Given the description of an element on the screen output the (x, y) to click on. 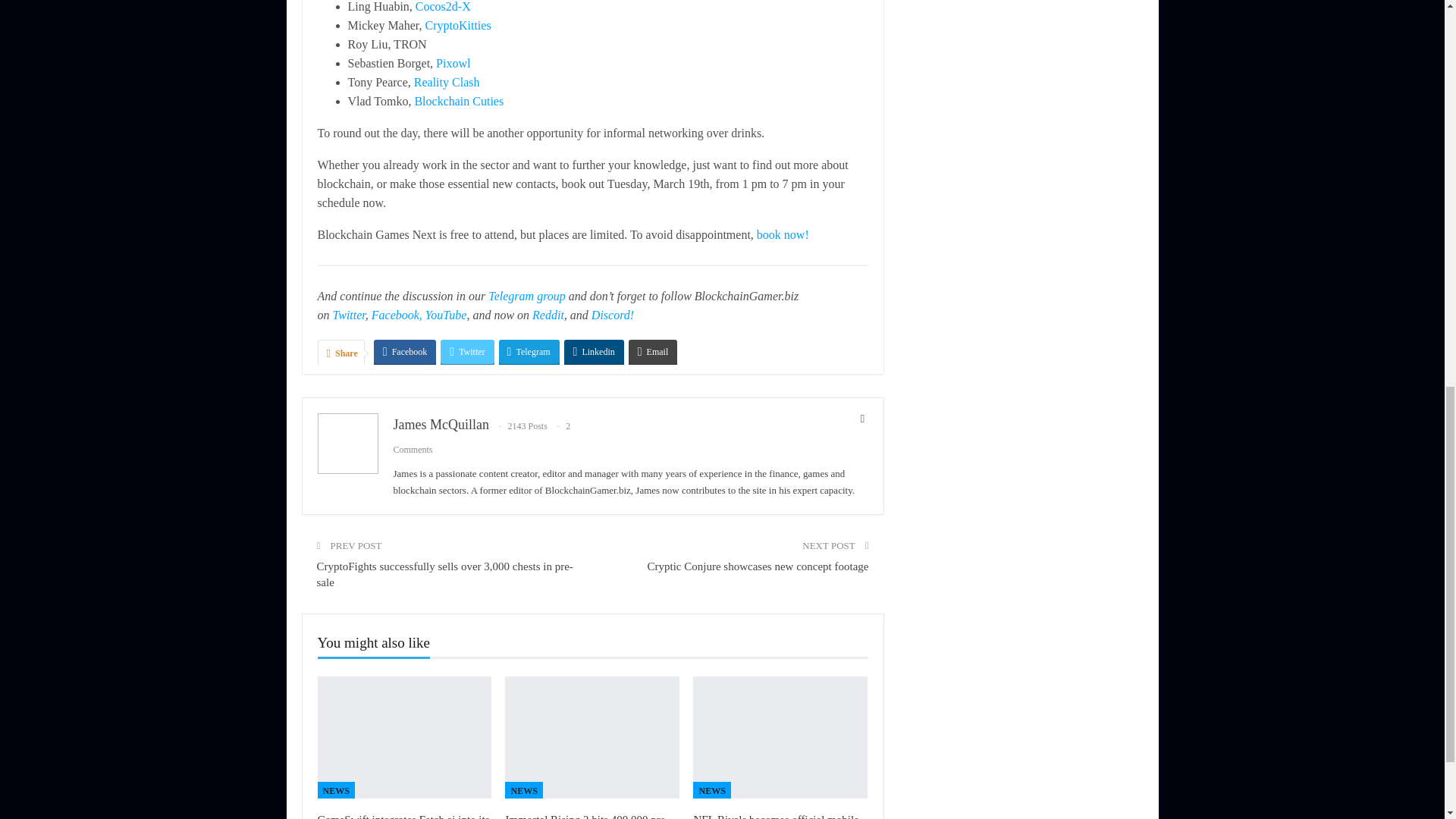
GameSwift integrates Fetch.ai into its launcher (403, 816)
Immortal Rising 2 hits 400,000 pre-registrations (592, 737)
Facebook, (396, 314)
Blockchain Cuties (458, 101)
GameSwift integrates Fetch.ai into its launcher (404, 737)
Pixowl (452, 62)
Reality Clash (446, 82)
Twitter (348, 314)
Telegram group (526, 295)
